Given the description of an element on the screen output the (x, y) to click on. 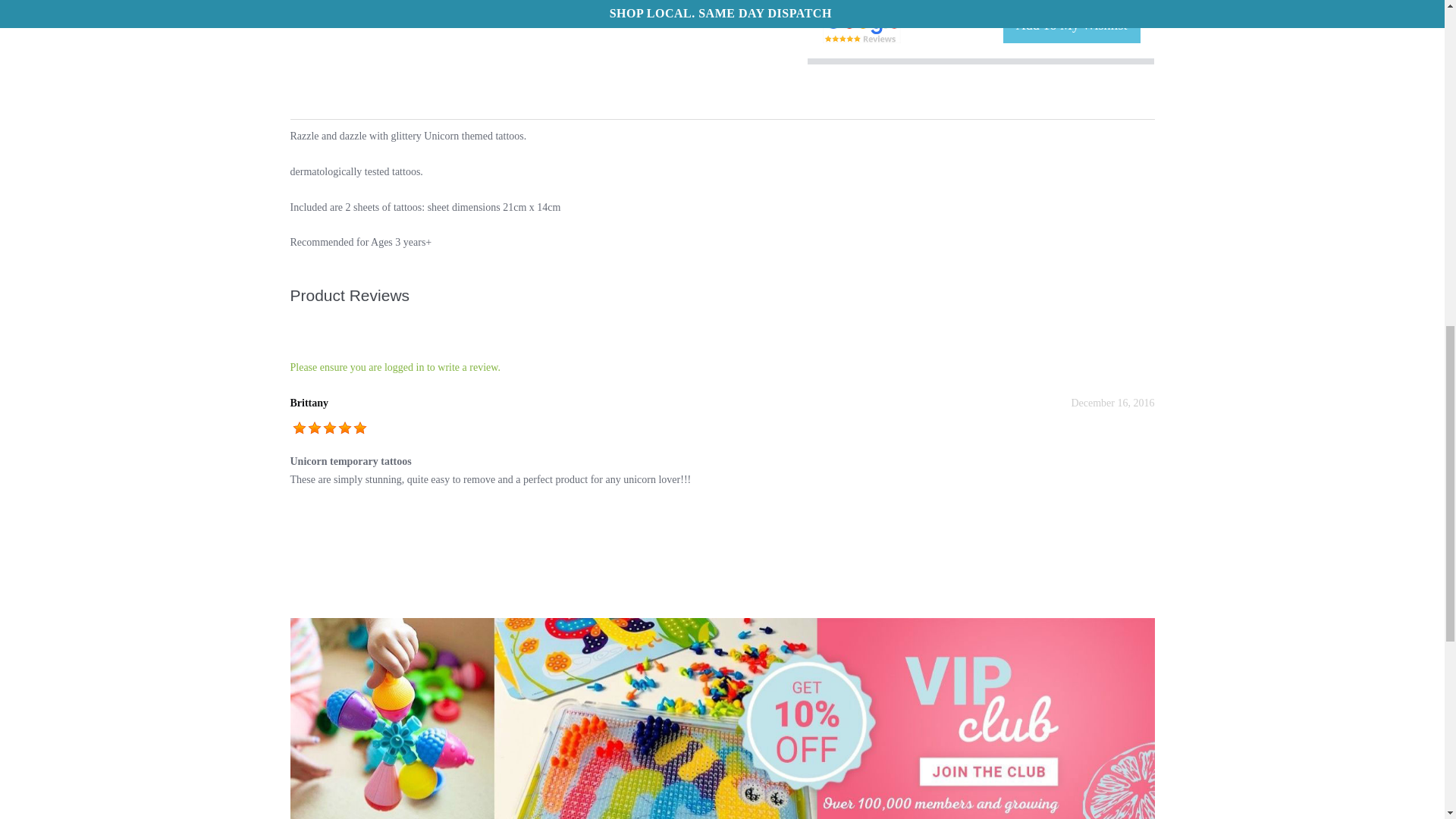
5 (344, 427)
5 (329, 427)
5 (298, 427)
5 (359, 427)
5 (314, 427)
Add To My Wishlist (1071, 25)
